Given the description of an element on the screen output the (x, y) to click on. 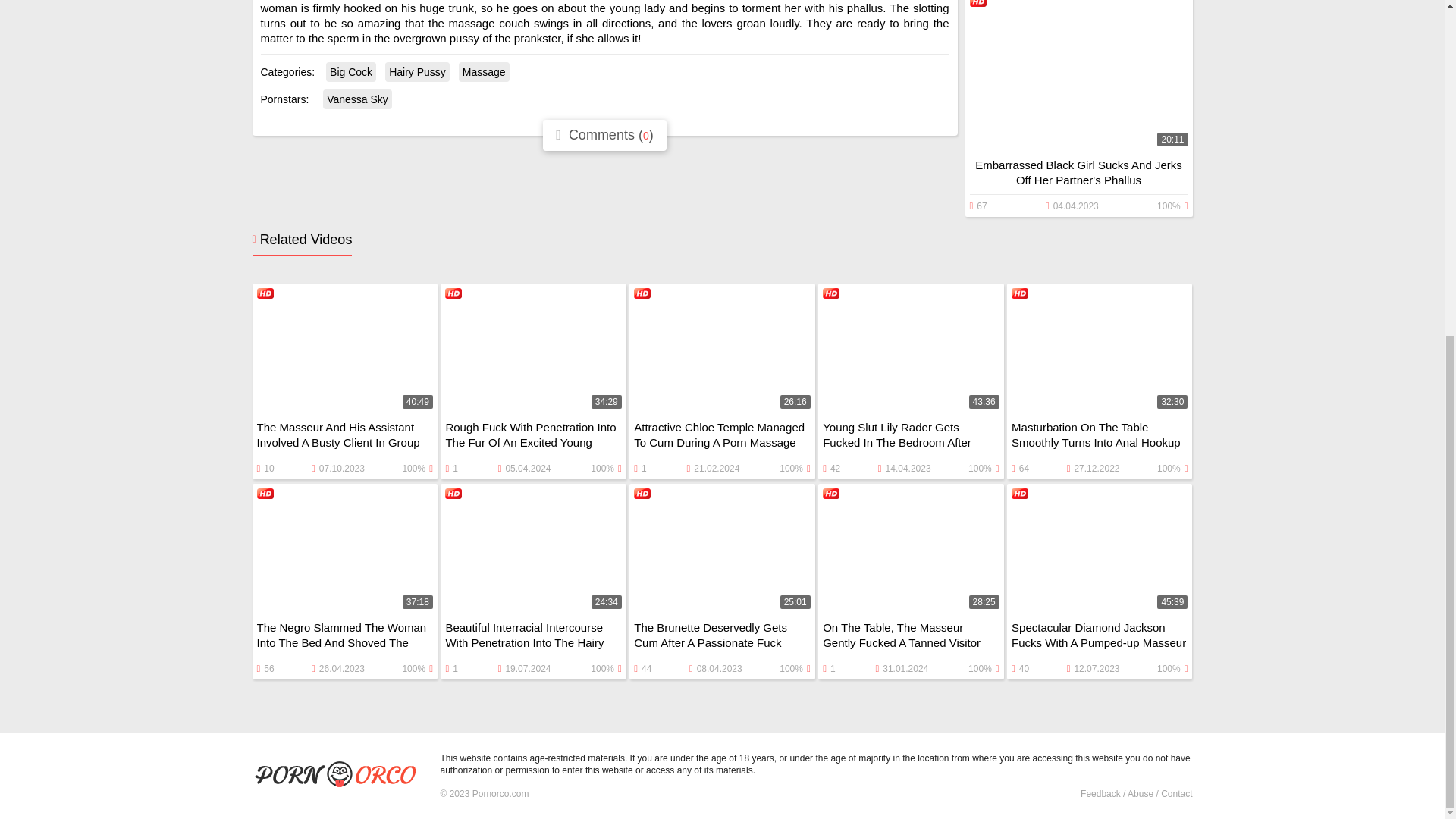
Massage (483, 71)
Hairy Pussy (417, 71)
Hairy Pussy (417, 71)
Pornorco (339, 775)
Vanessa Sky (357, 98)
Big Cock (350, 71)
Big Cock (350, 71)
Massage (483, 71)
Vanessa Sky (357, 98)
